Given the description of an element on the screen output the (x, y) to click on. 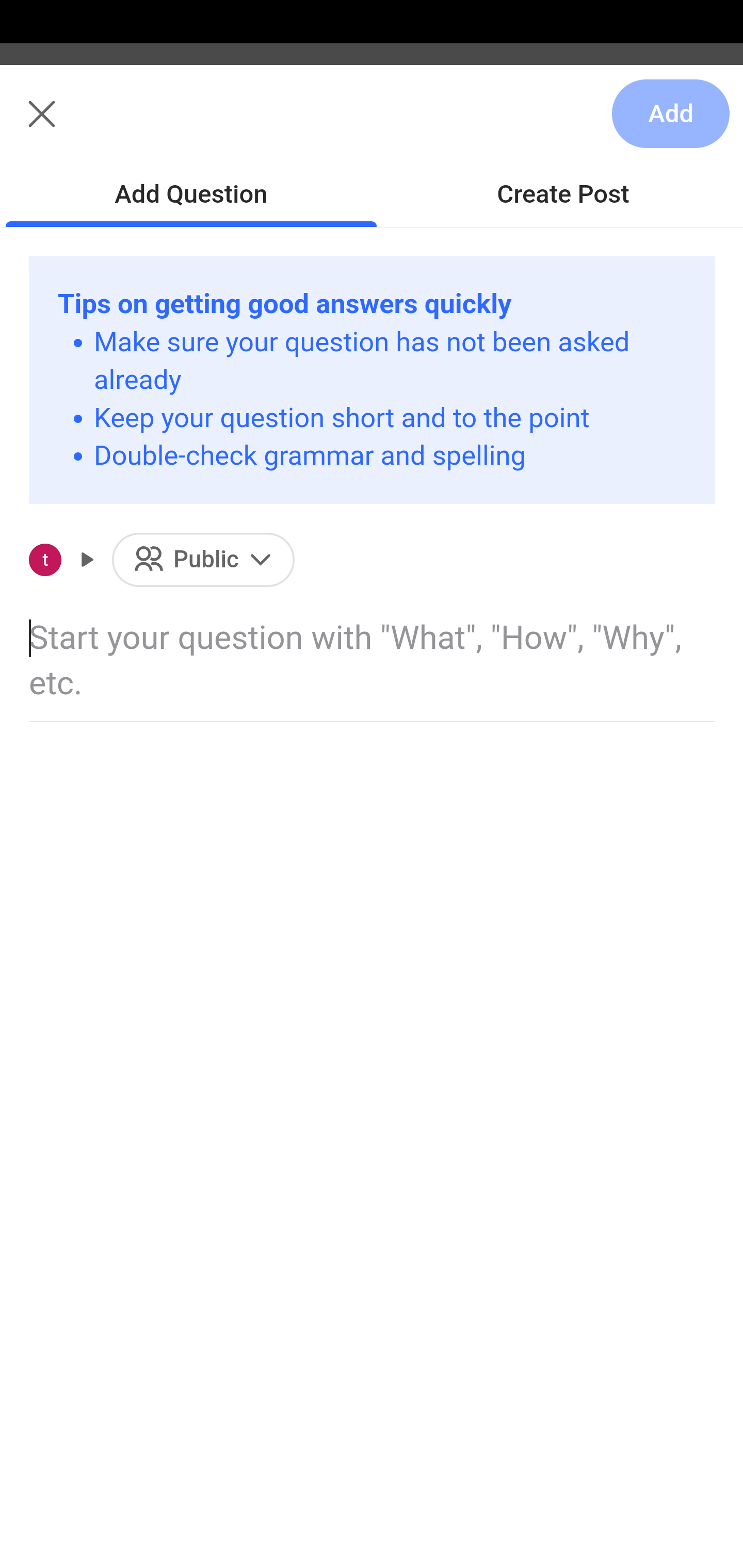
Me Home Search Add (371, 125)
Me (64, 125)
